Given the description of an element on the screen output the (x, y) to click on. 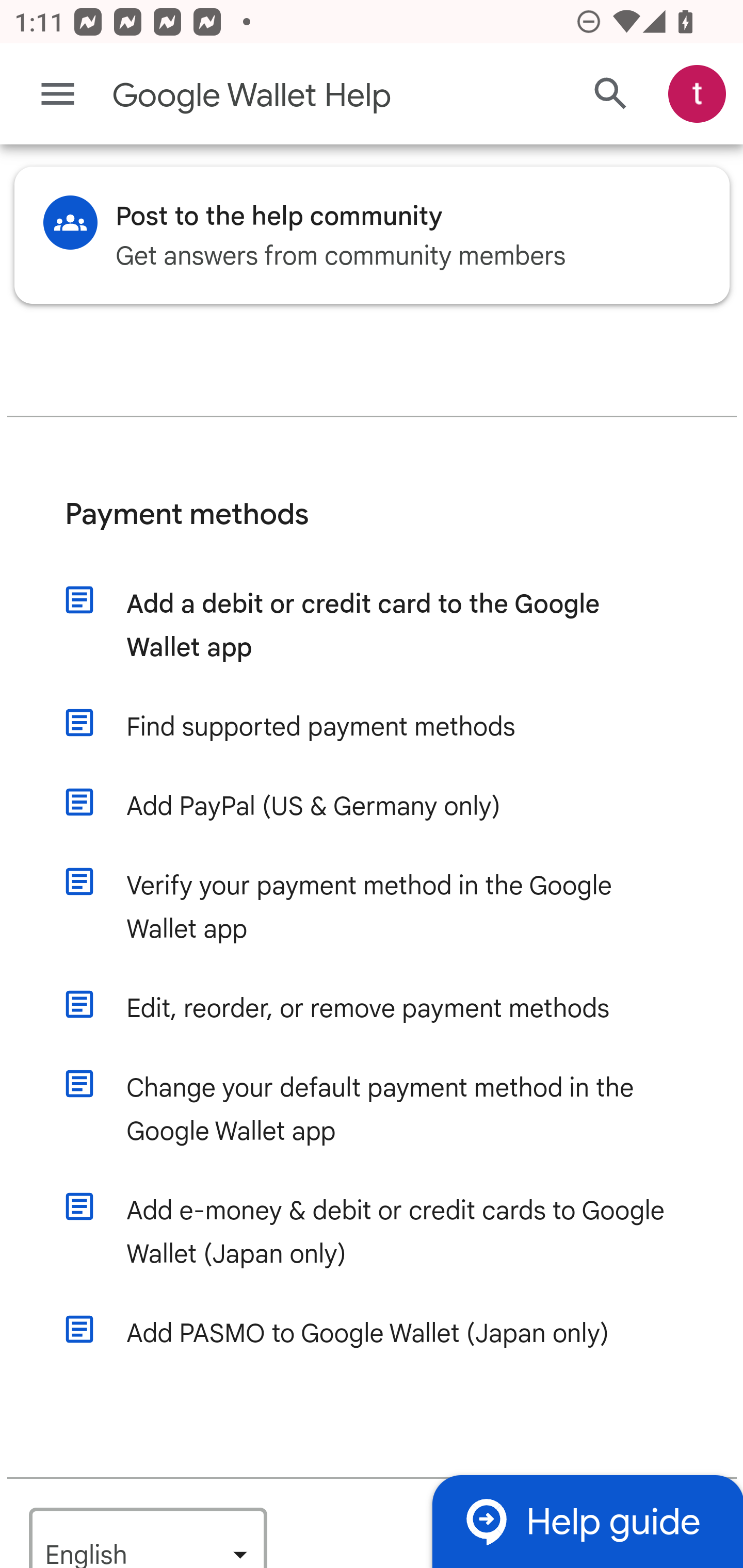
Main menu (58, 93)
Google Wallet Help (292, 96)
Search Help Center (611, 94)
Payment methods Payment methods Payment methods (372, 529)
Payment methods (372, 529)
Find supported payment methods (390, 727)
Add PayPal (US & Germany only) (390, 807)
Edit, reorder, or remove payment methods (390, 1009)
Add PASMO to Google Wallet (Japan only) (390, 1334)
Help guide (587, 1520)
Language (English‎) (147, 1537)
